Given the description of an element on the screen output the (x, y) to click on. 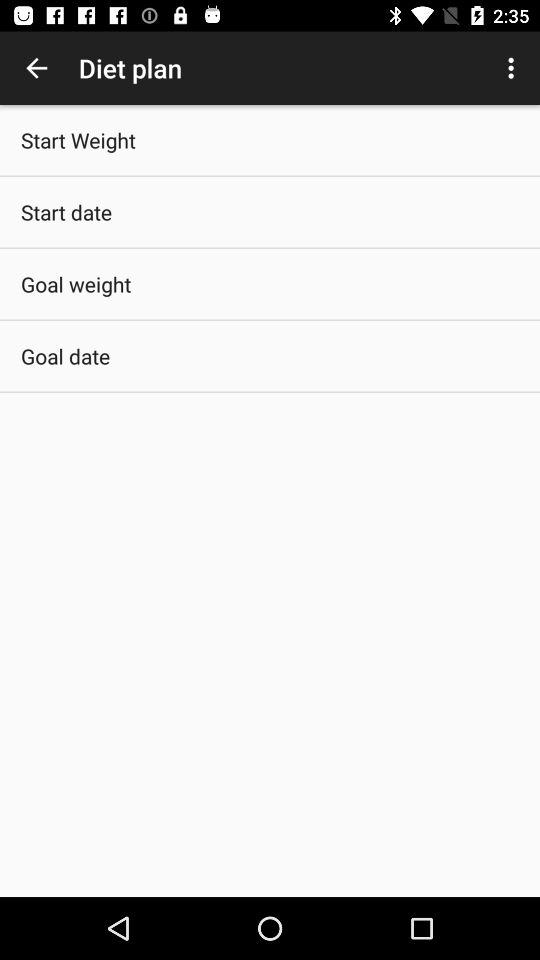
press app next to the diet plan app (36, 68)
